Given the description of an element on the screen output the (x, y) to click on. 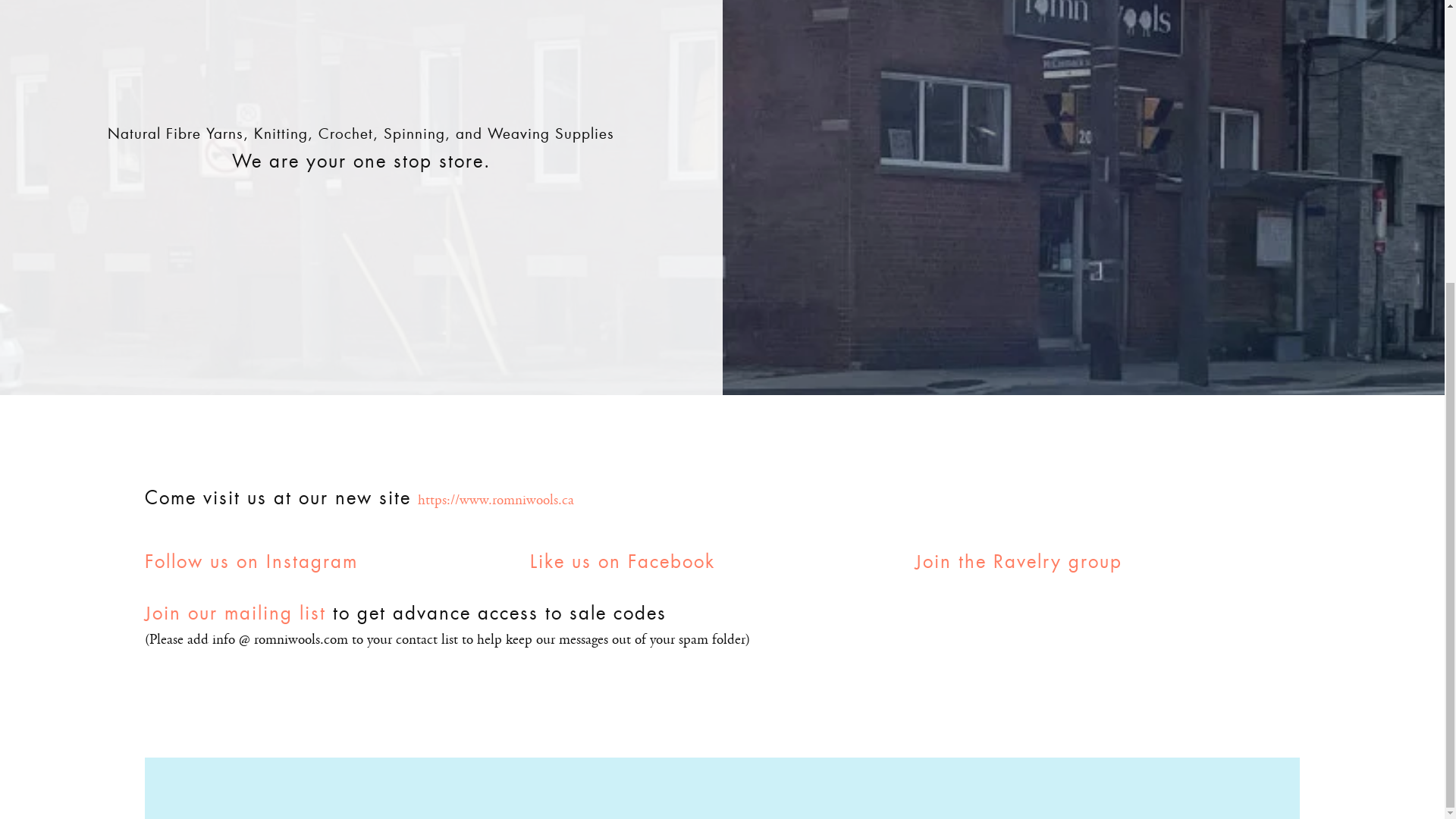
Like us on Facebook (621, 561)
Join our mailing list (234, 613)
Join the Ravelry group (1018, 561)
Follow us on Instagram (250, 561)
